Given the description of an element on the screen output the (x, y) to click on. 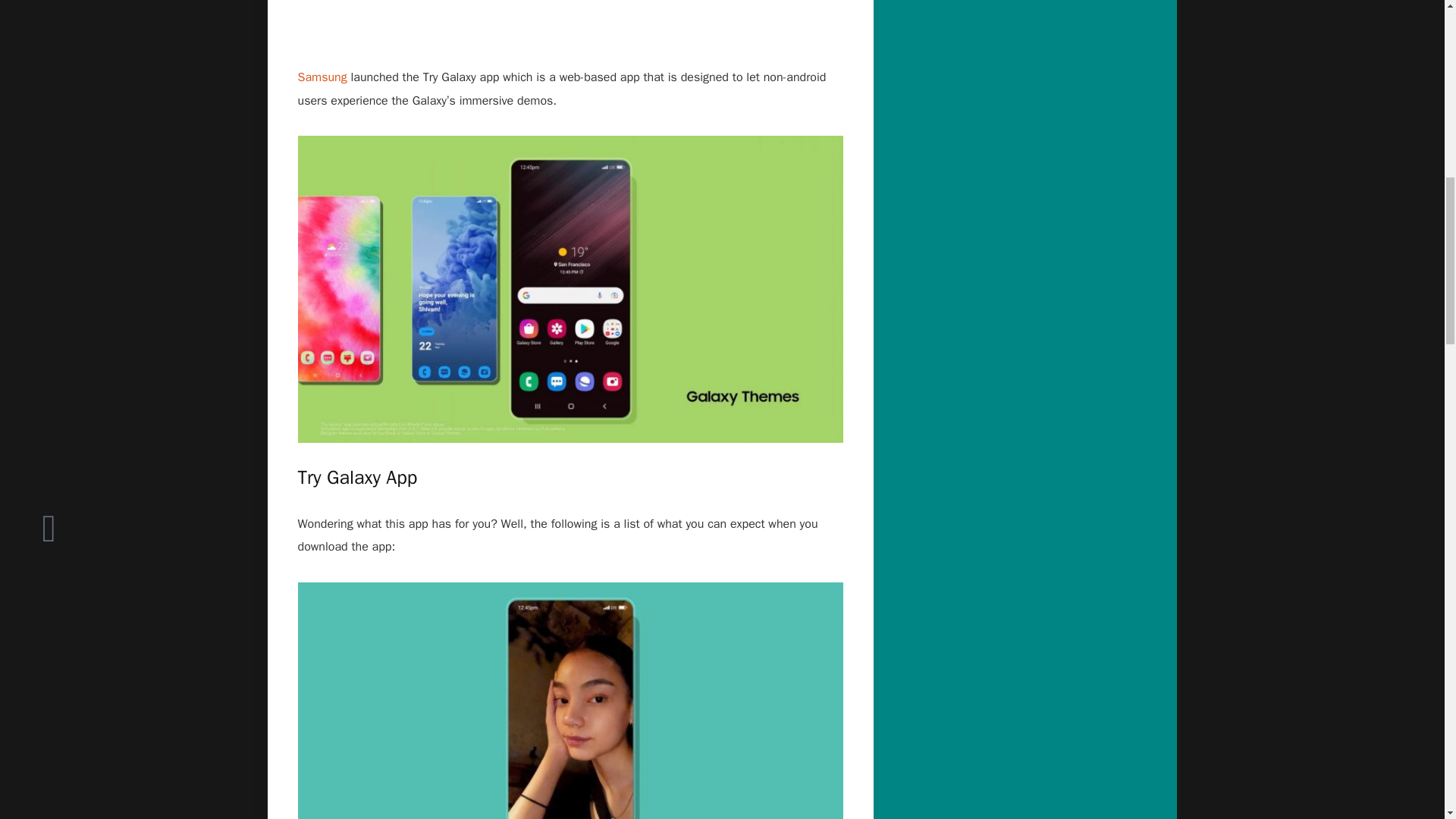
Samsung (321, 77)
